Given the description of an element on the screen output the (x, y) to click on. 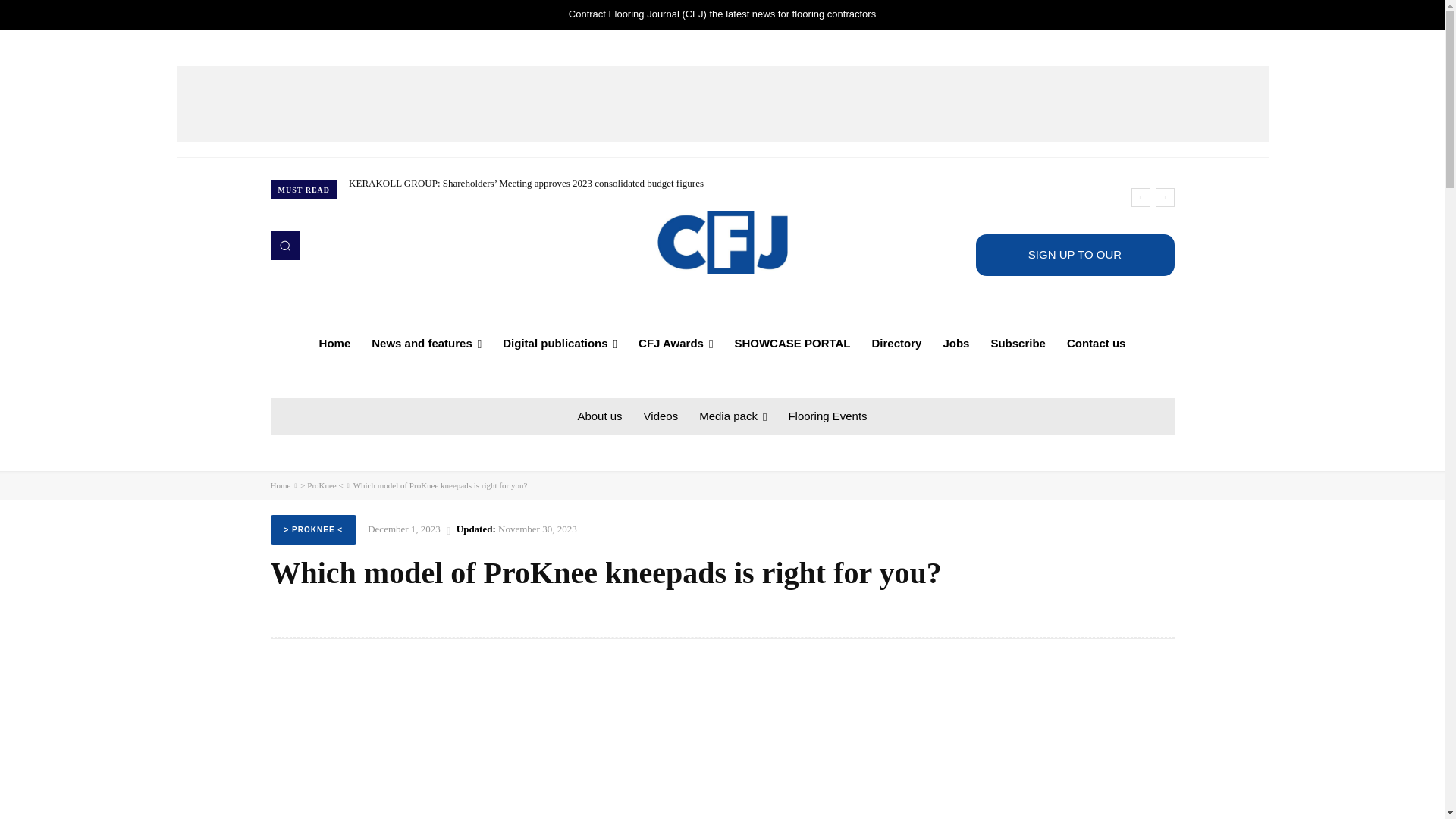
SIGN UP TO OUR NEWSLETTER (1074, 255)
